Given the description of an element on the screen output the (x, y) to click on. 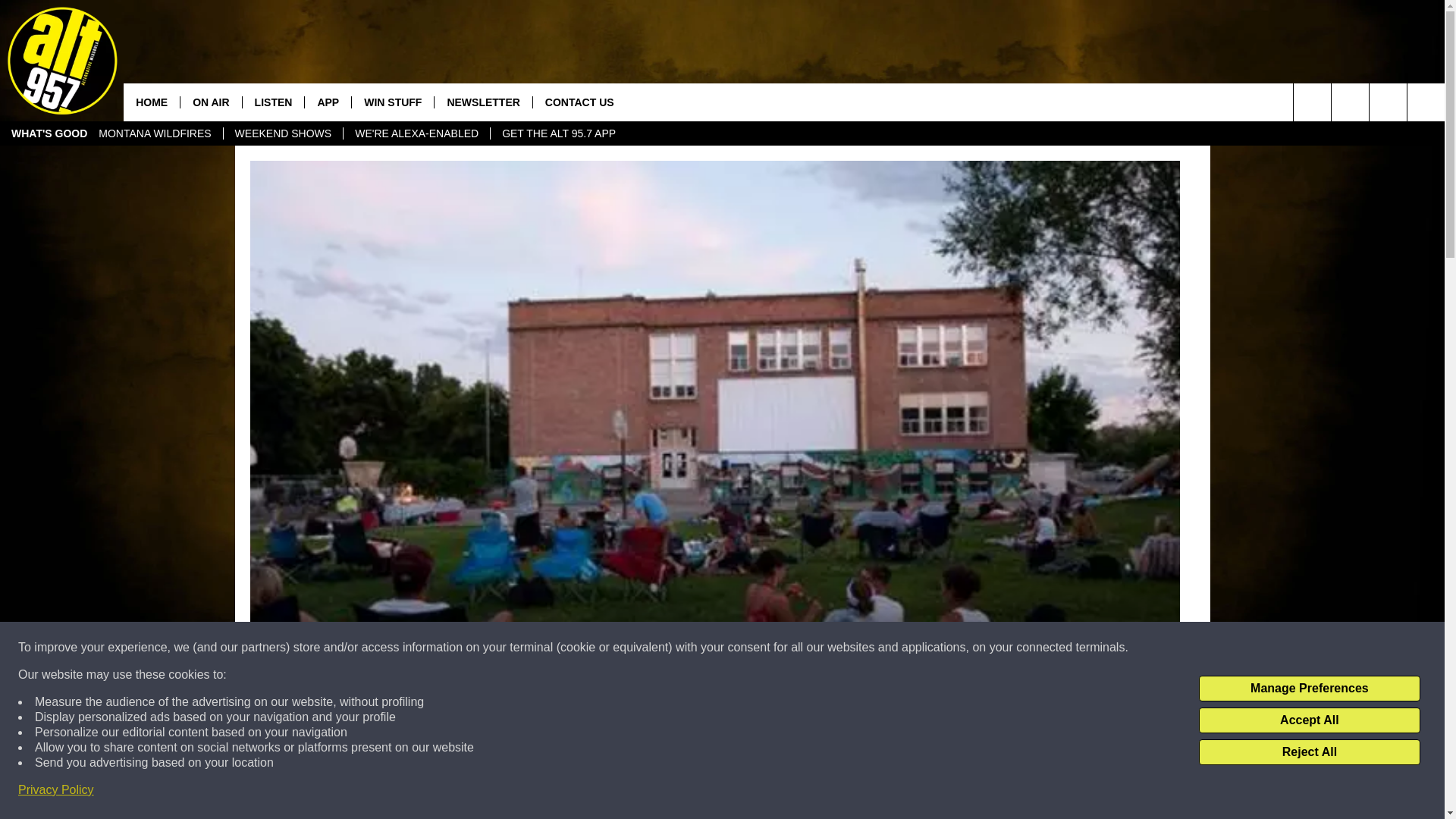
CONTACT US (579, 102)
Share on Facebook (517, 791)
Accept All (1309, 720)
ON AIR (210, 102)
NEWSLETTER (482, 102)
Privacy Policy (55, 789)
MONTANA WILDFIRES (154, 133)
WE'RE ALEXA-ENABLED (415, 133)
GET THE ALT 95.7 APP (558, 133)
LISTEN (272, 102)
HOME (151, 102)
WIN STUFF (391, 102)
Share on Twitter (912, 791)
Manage Preferences (1309, 688)
WEEKEND SHOWS (282, 133)
